Given the description of an element on the screen output the (x, y) to click on. 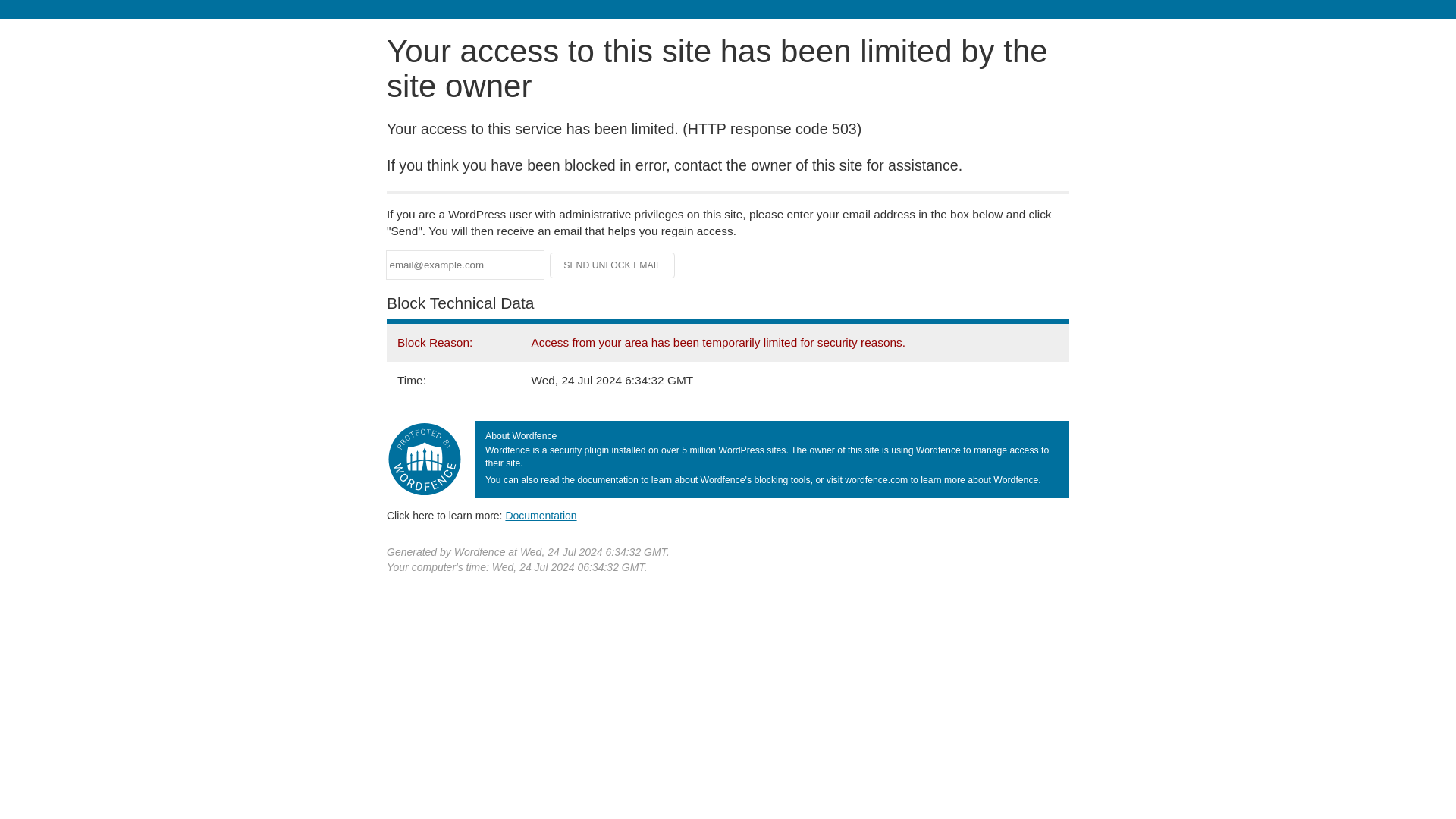
Send Unlock Email (612, 265)
Send Unlock Email (612, 265)
Documentation (540, 515)
